Given the description of an element on the screen output the (x, y) to click on. 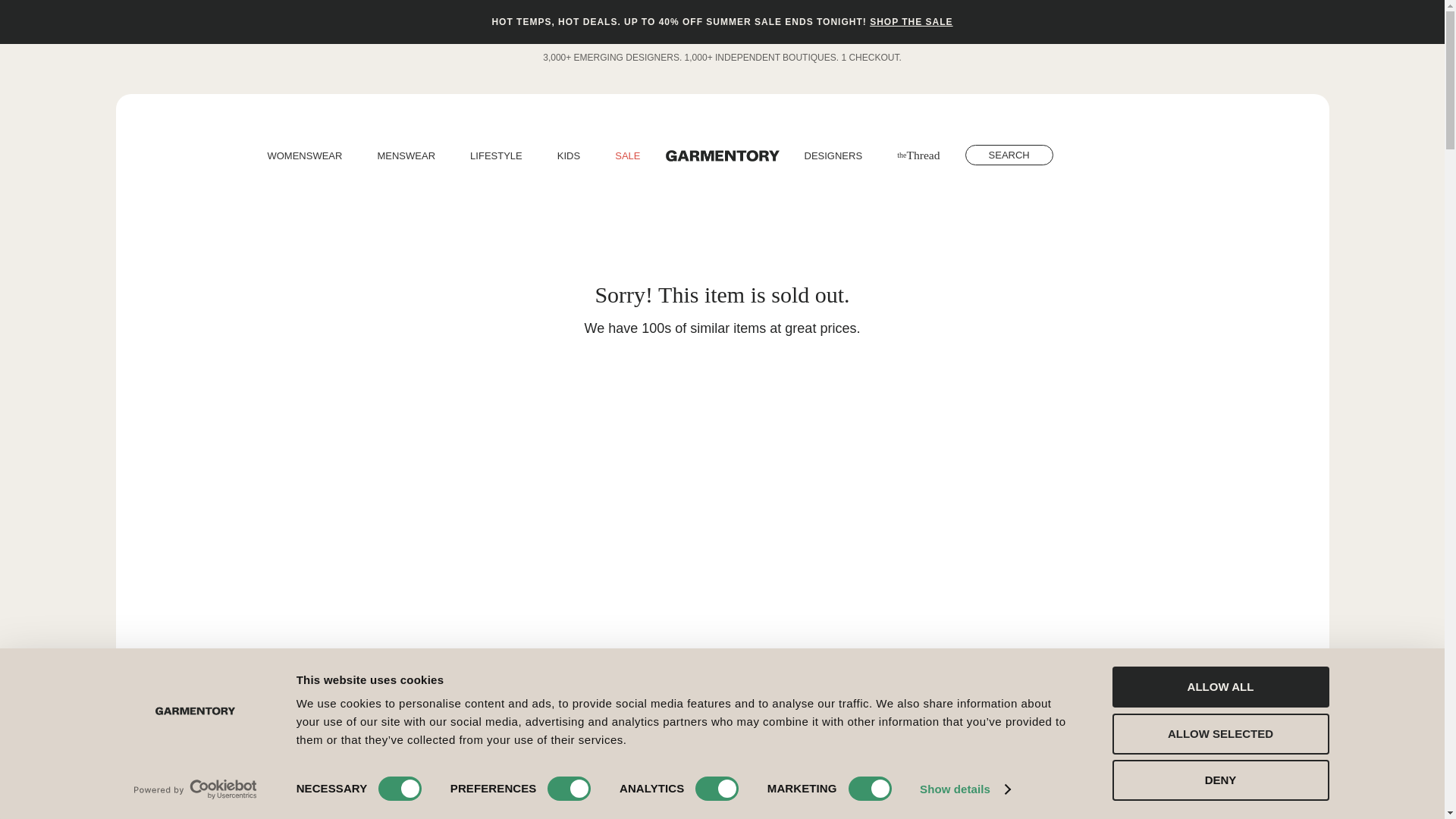
Show details (964, 789)
SHOP THE SALE (910, 21)
ALLOW SELECTED (1219, 732)
SHOP THE SALE (910, 21)
DENY (1219, 780)
ALLOW ALL (1219, 686)
